Given the description of an element on the screen output the (x, y) to click on. 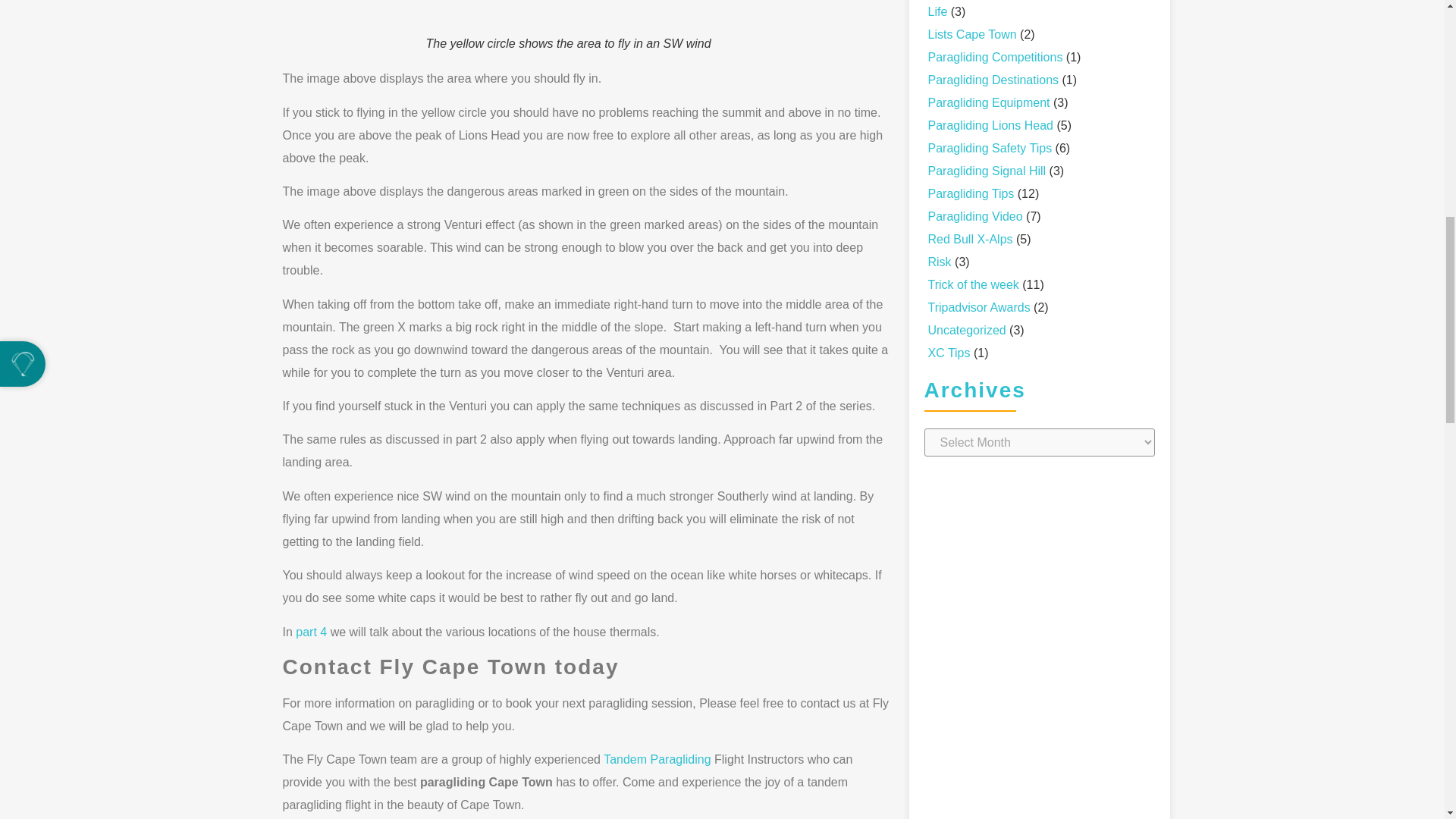
Tandem Paragliding (657, 758)
Paragliding Cape Town SW area to paraglide in (588, 18)
part 4 (310, 631)
